Given the description of an element on the screen output the (x, y) to click on. 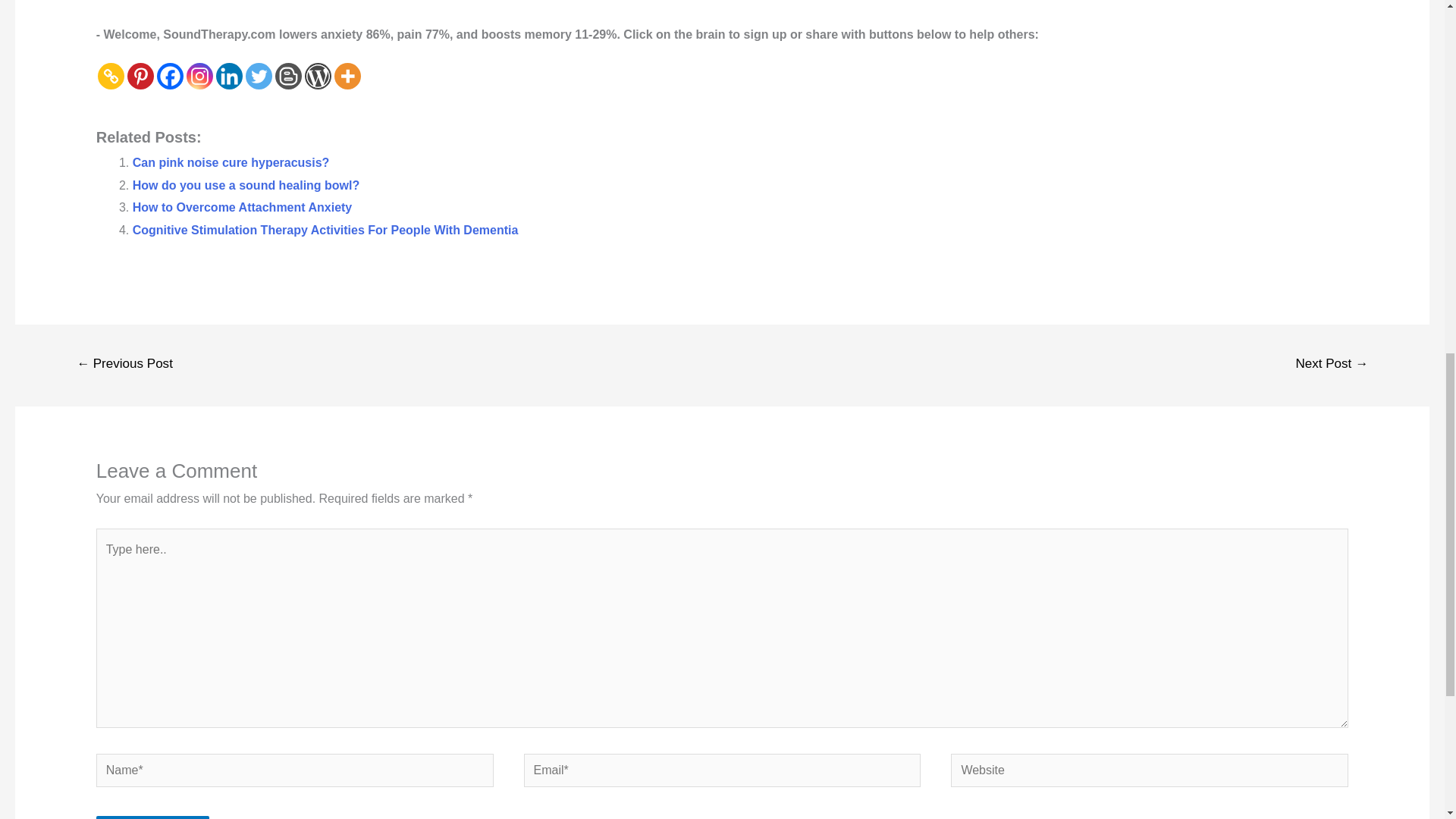
Pinterest (141, 76)
How do you use a sound healing bowl? (245, 185)
Copy Link (110, 76)
How to Overcome Attachment Anxiety (242, 206)
Can pink noise cure hyperacusis? (231, 162)
